Given the description of an element on the screen output the (x, y) to click on. 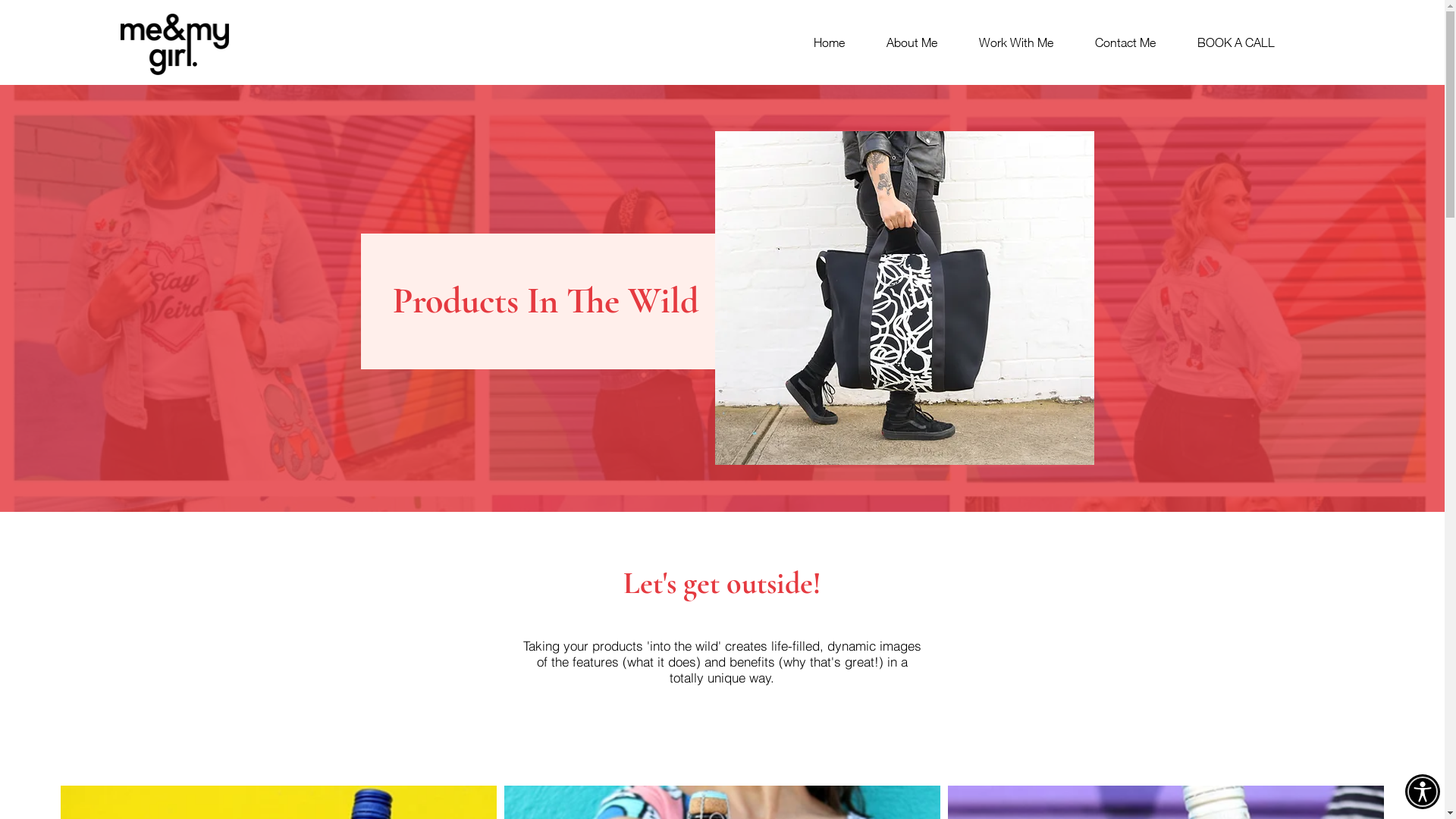
Work With Me Element type: text (1006, 42)
BOOK A CALL Element type: text (1226, 42)
Contact Me Element type: text (1115, 42)
About Me Element type: text (902, 42)
Home Element type: text (819, 42)
